Given the description of an element on the screen output the (x, y) to click on. 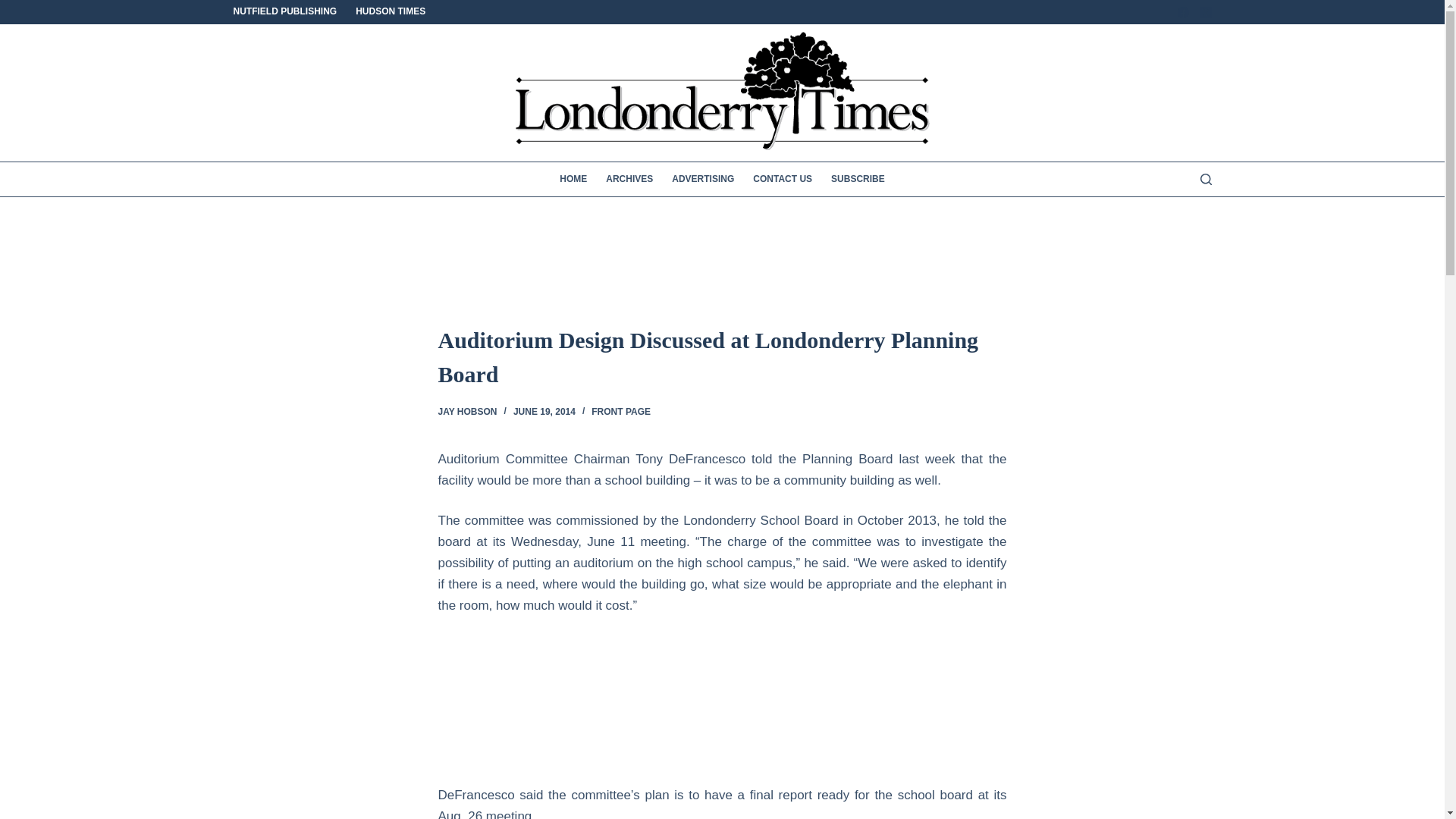
CONTACT US (783, 179)
NUTFIELD PUBLISHING (289, 12)
HOME (573, 179)
ARCHIVES (629, 179)
JAY HOBSON (467, 411)
Auditorium Design Discussed at Londonderry Planning Board (722, 356)
Advertisement (284, 707)
SUBSCRIBE (858, 179)
FRONT PAGE (620, 411)
ADVERTISING (703, 179)
